Given the description of an element on the screen output the (x, y) to click on. 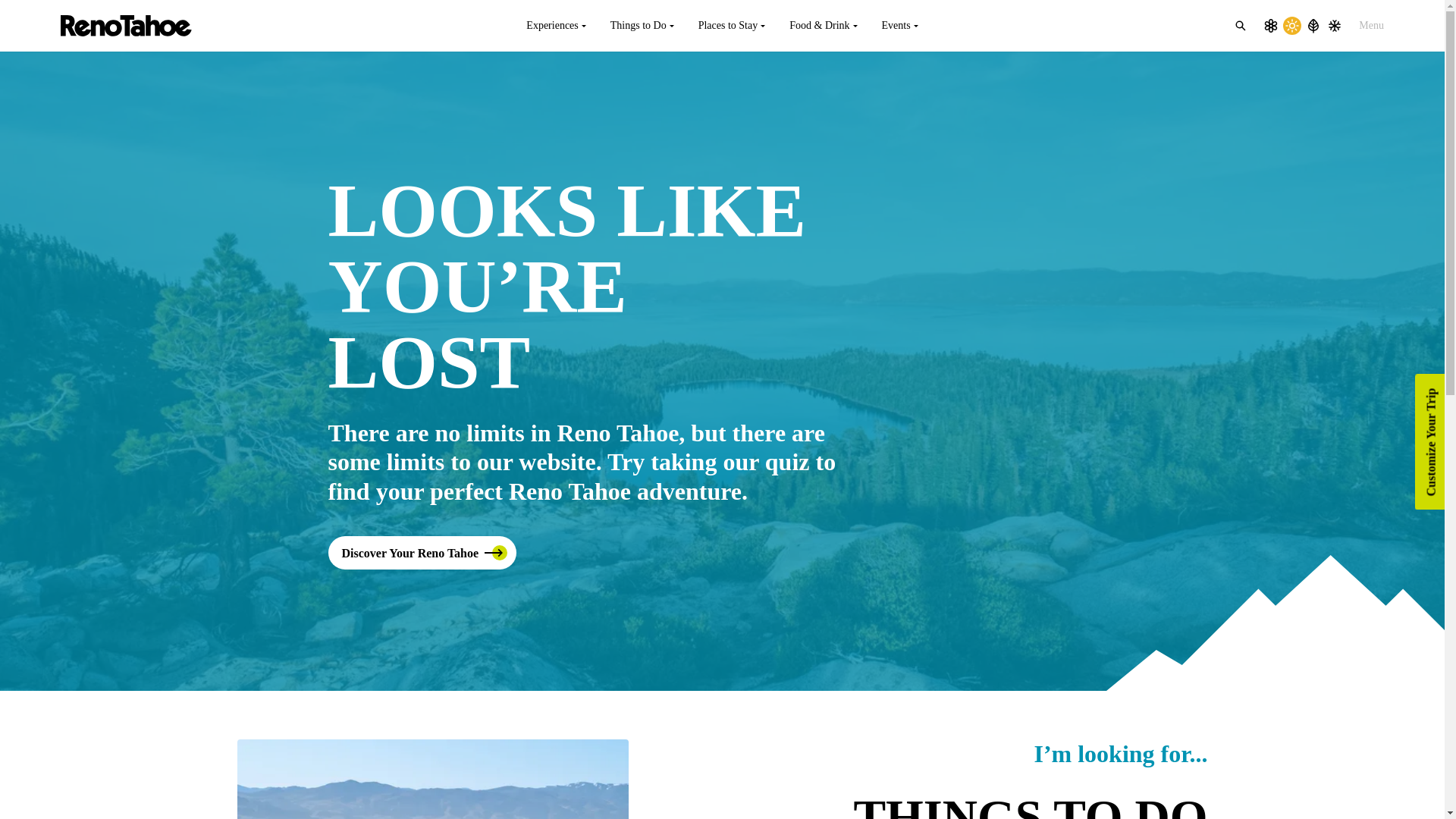
Places to Stay (731, 25)
Things to Do (641, 25)
Experiences (554, 25)
